Given the description of an element on the screen output the (x, y) to click on. 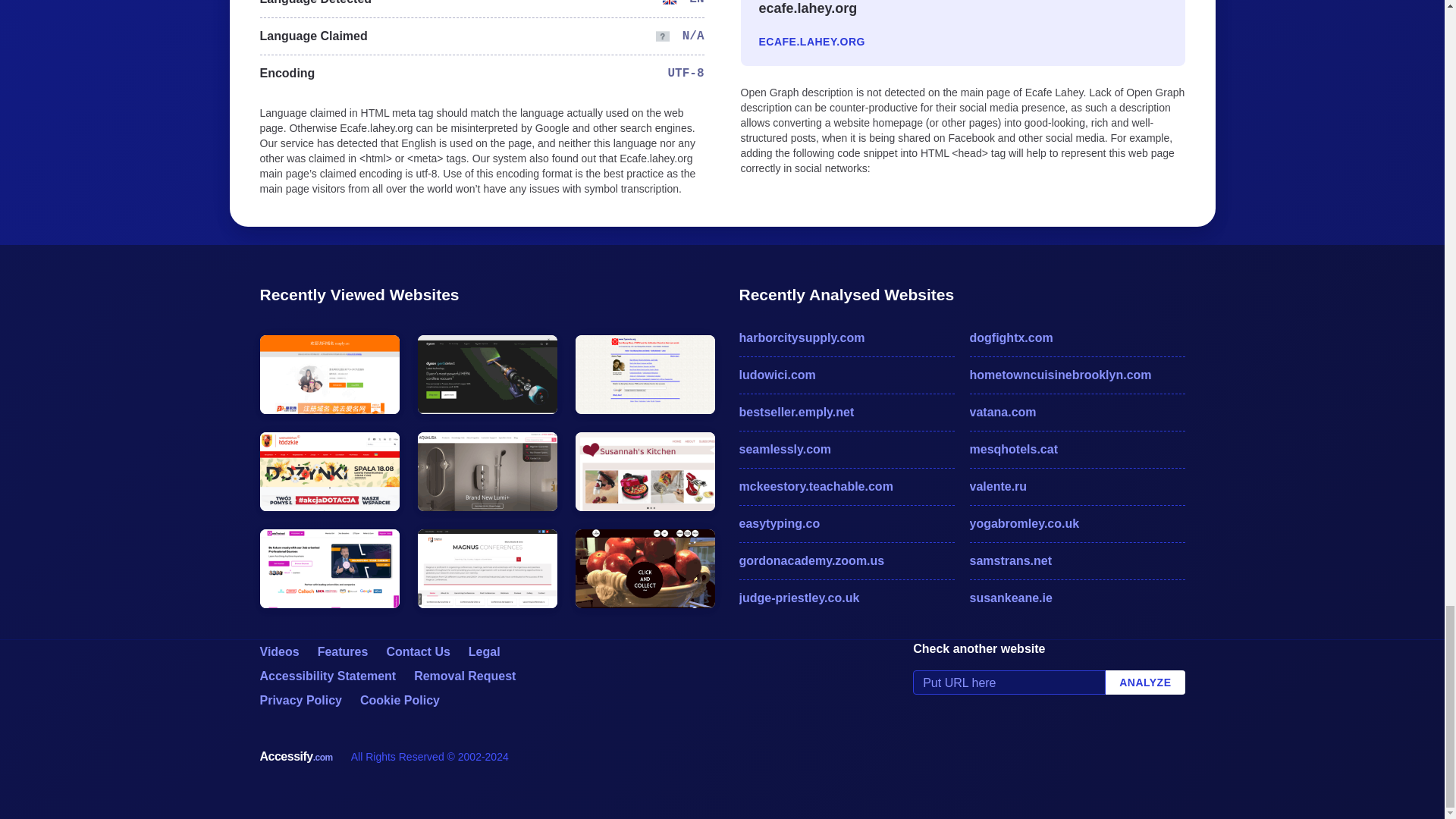
seamlessly.com (845, 449)
ludowici.com (845, 375)
susankeane.ie (1077, 597)
mckeestory.teachable.com (845, 486)
vatana.com (1077, 412)
bestseller.emply.net (845, 412)
Screencasts: video tutorials and guides (278, 651)
hometowncuisinebrooklyn.com (1077, 375)
samstrans.net (1077, 561)
gordonacademy.zoom.us (845, 561)
